Given the description of an element on the screen output the (x, y) to click on. 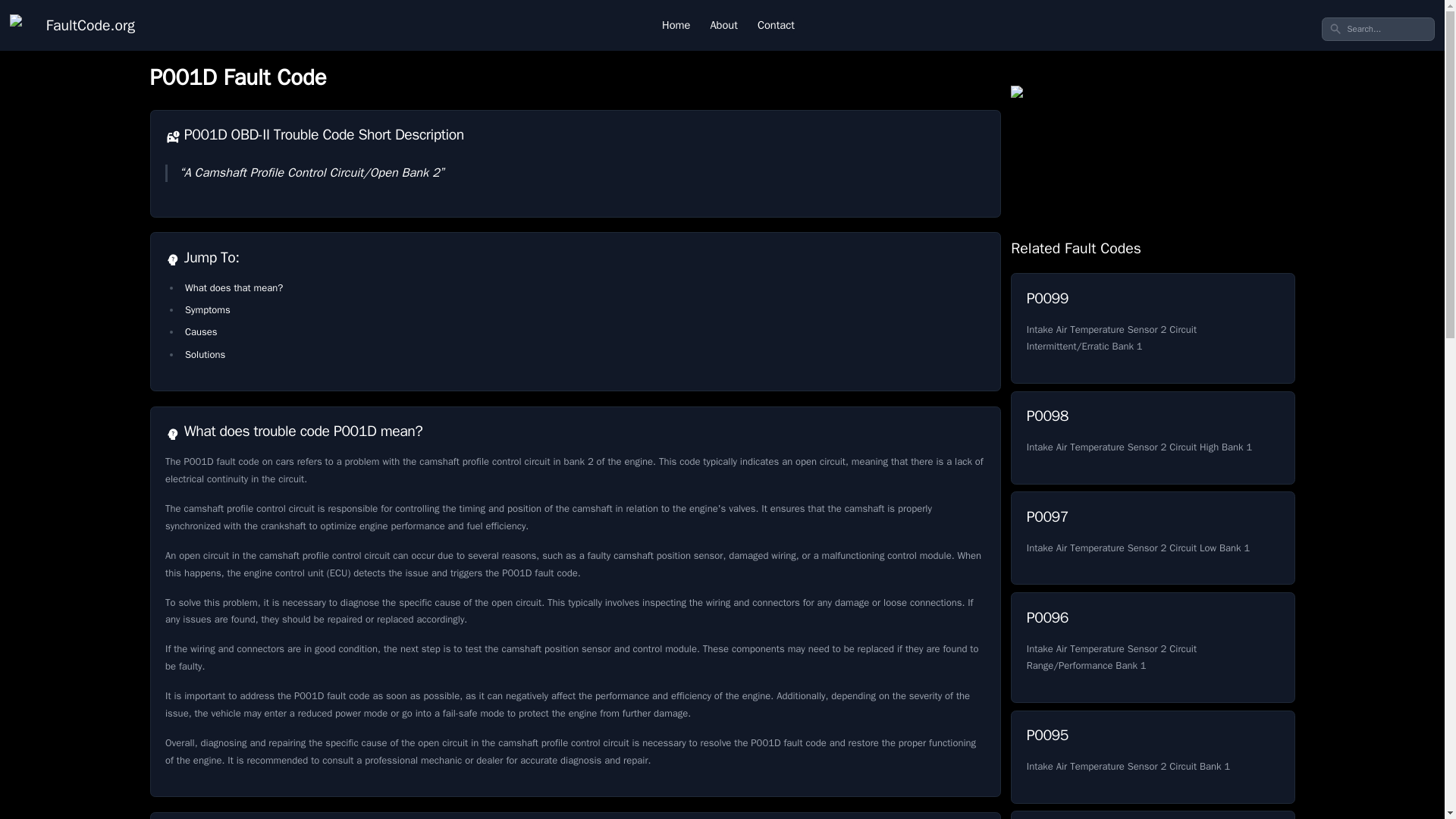
Symptoms (207, 309)
P0099 (1152, 328)
P0095 (1152, 537)
P0097 (1152, 756)
Causes (1152, 537)
What does that mean? (200, 331)
FaultCode.org (233, 287)
P0096 (1152, 814)
About (72, 25)
P0094 (1152, 647)
P0098 (1152, 756)
Home (723, 25)
